Given the description of an element on the screen output the (x, y) to click on. 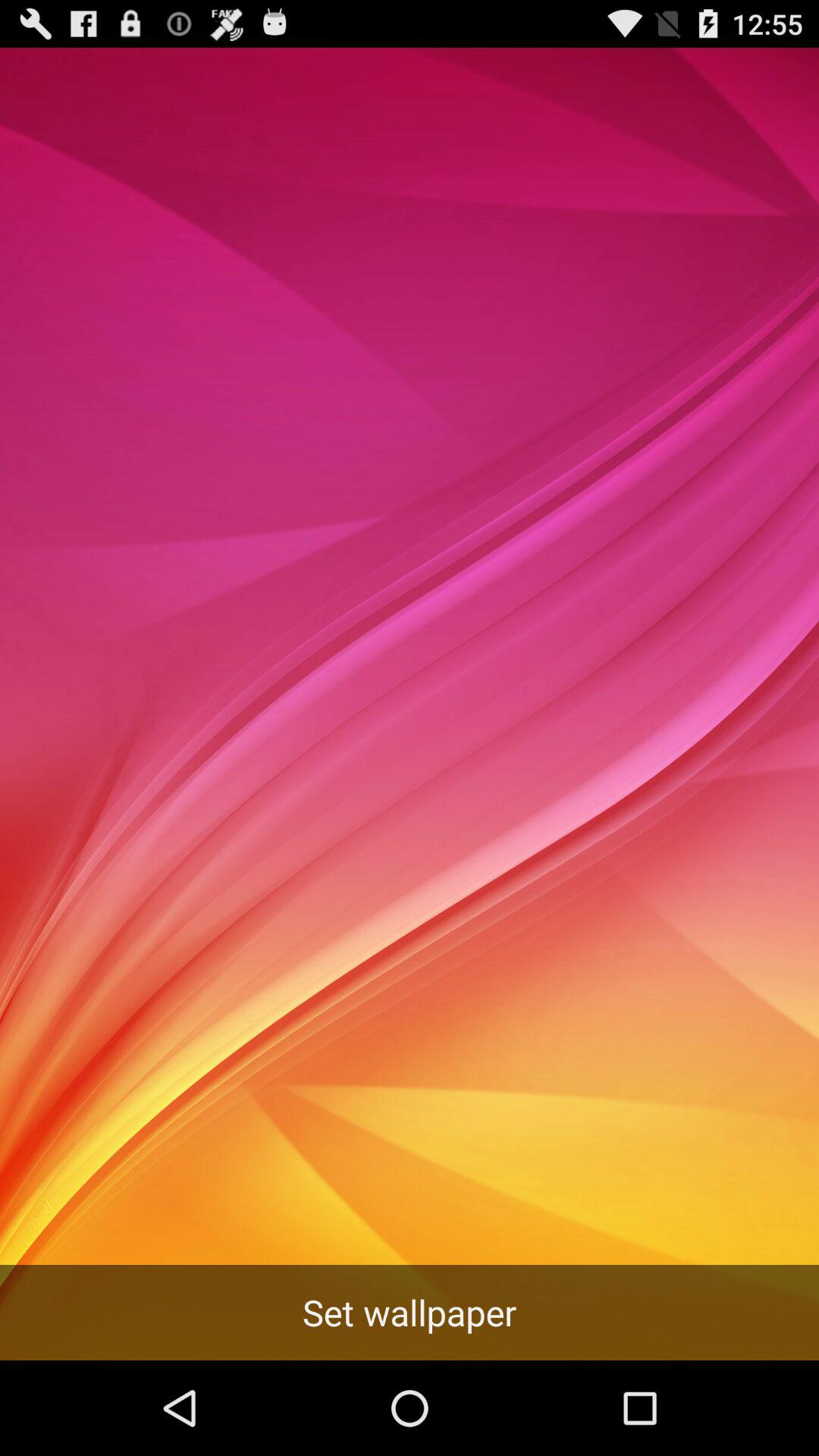
press button at the bottom (409, 1312)
